Given the description of an element on the screen output the (x, y) to click on. 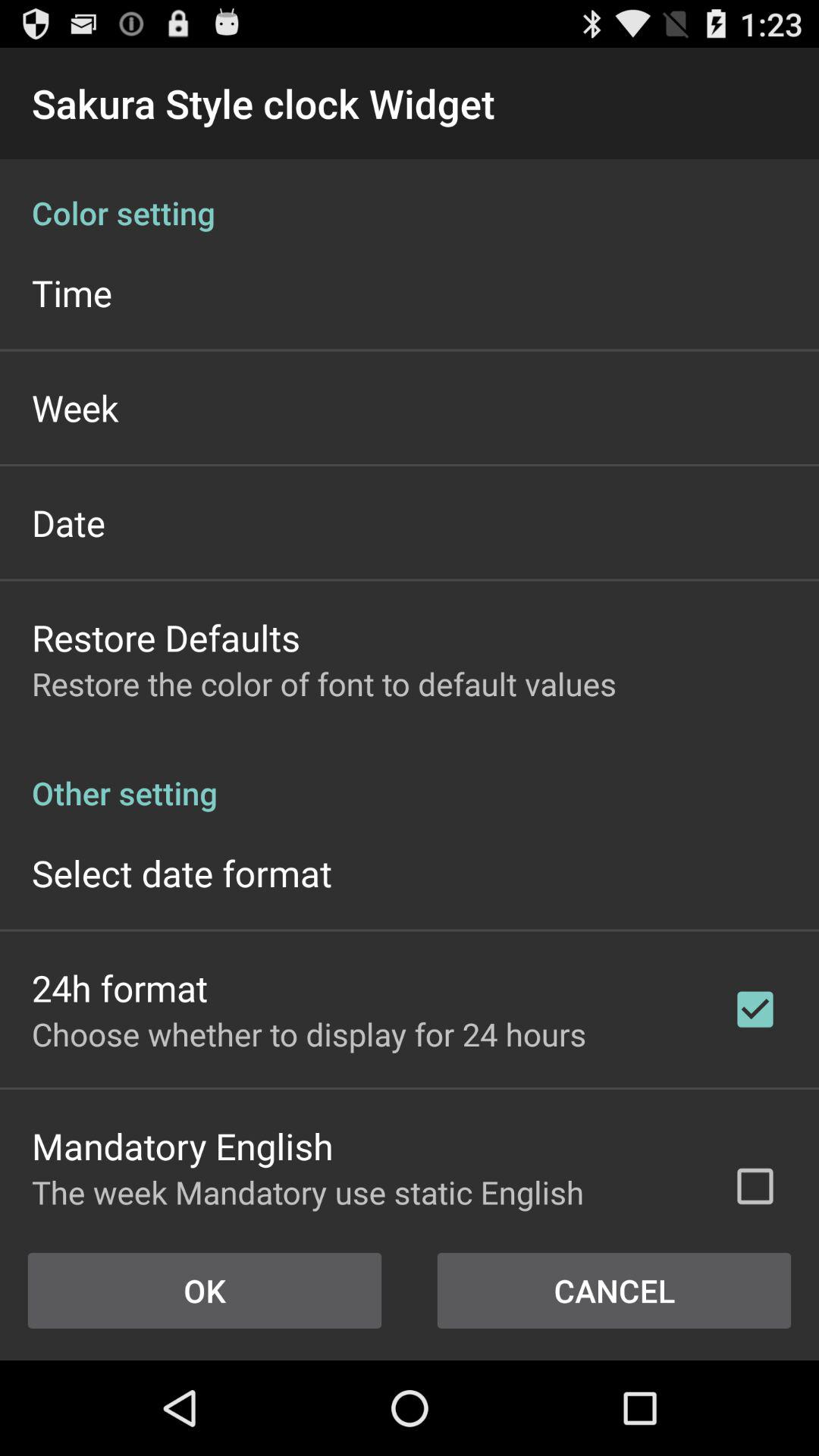
swipe to the color setting item (409, 196)
